Given the description of an element on the screen output the (x, y) to click on. 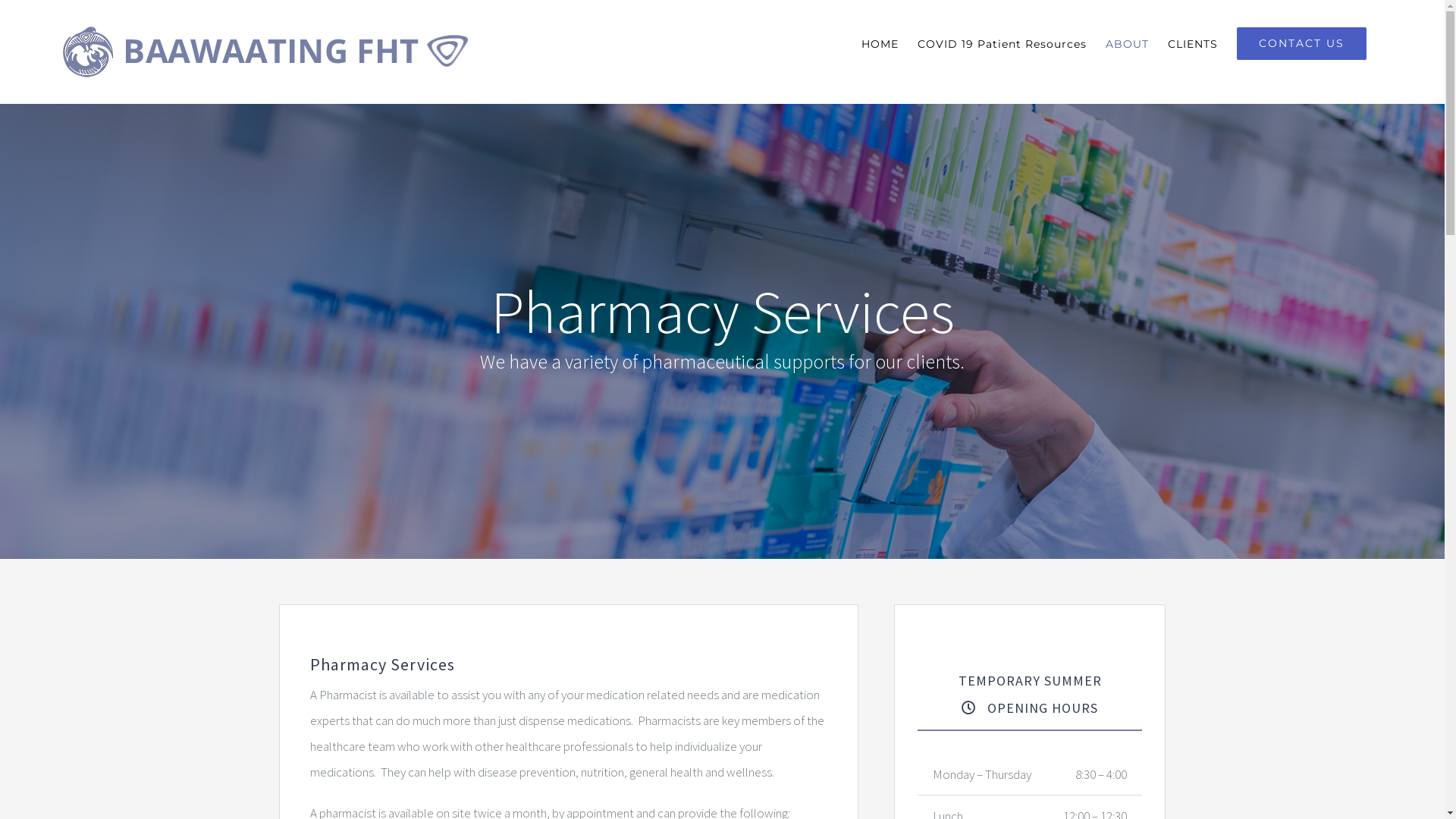
ABOUT Element type: text (1126, 43)
CLIENTS Element type: text (1192, 43)
COVID 19 Patient Resources Element type: text (1001, 43)
CONTACT US Element type: text (1301, 43)
HOME Element type: text (879, 43)
